Given the description of an element on the screen output the (x, y) to click on. 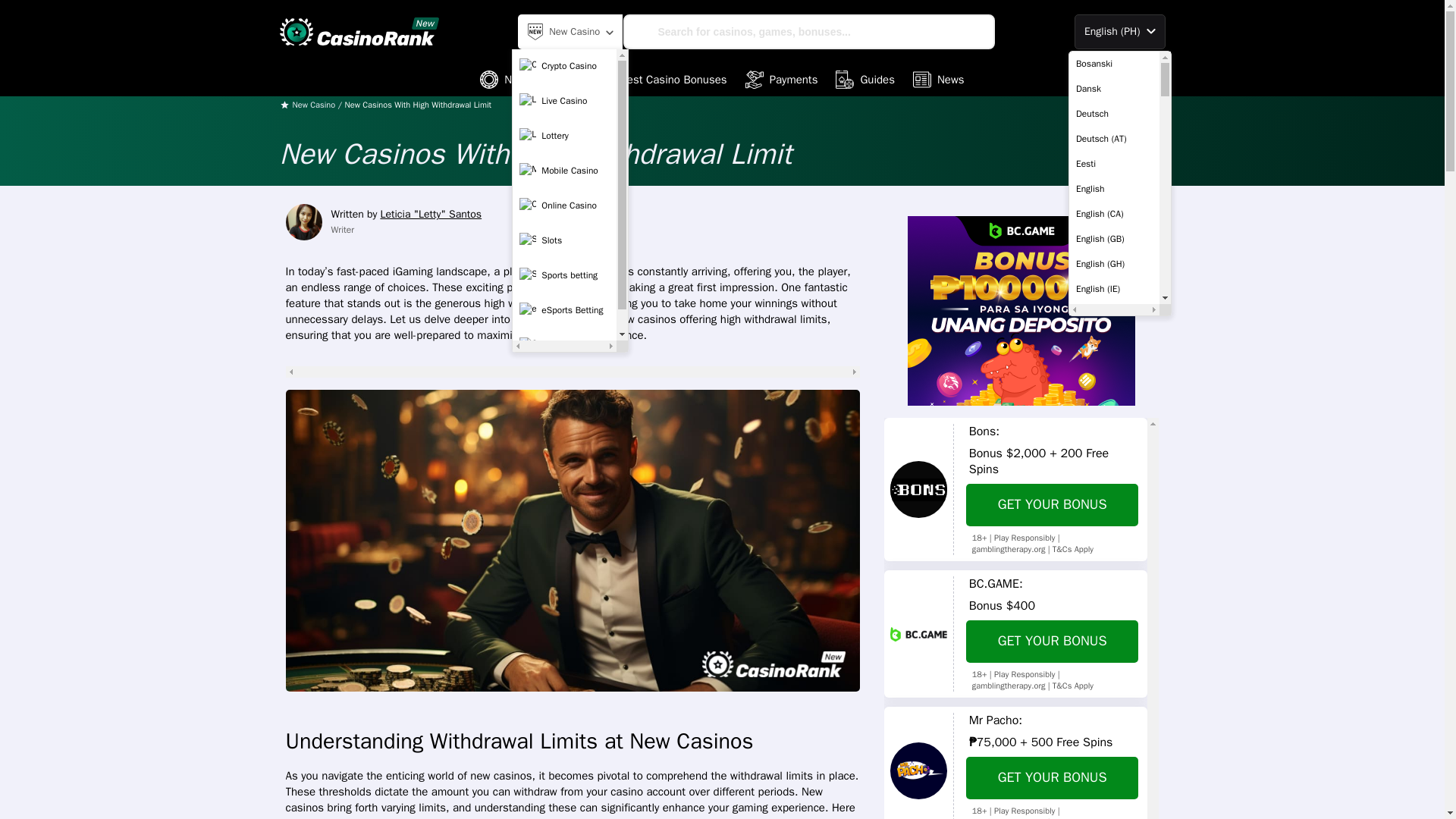
Online Casino (563, 205)
Crypto Casino (563, 65)
Lottery (563, 135)
Deutsch (1113, 113)
Slots (563, 344)
Mobile Casino (563, 170)
Bosanski (1113, 63)
Sports betting (563, 275)
Dansk (1113, 88)
eSports Betting (563, 309)
Eesti (1113, 163)
Slots (563, 240)
English (1113, 188)
Live Casino (563, 100)
